Given the description of an element on the screen output the (x, y) to click on. 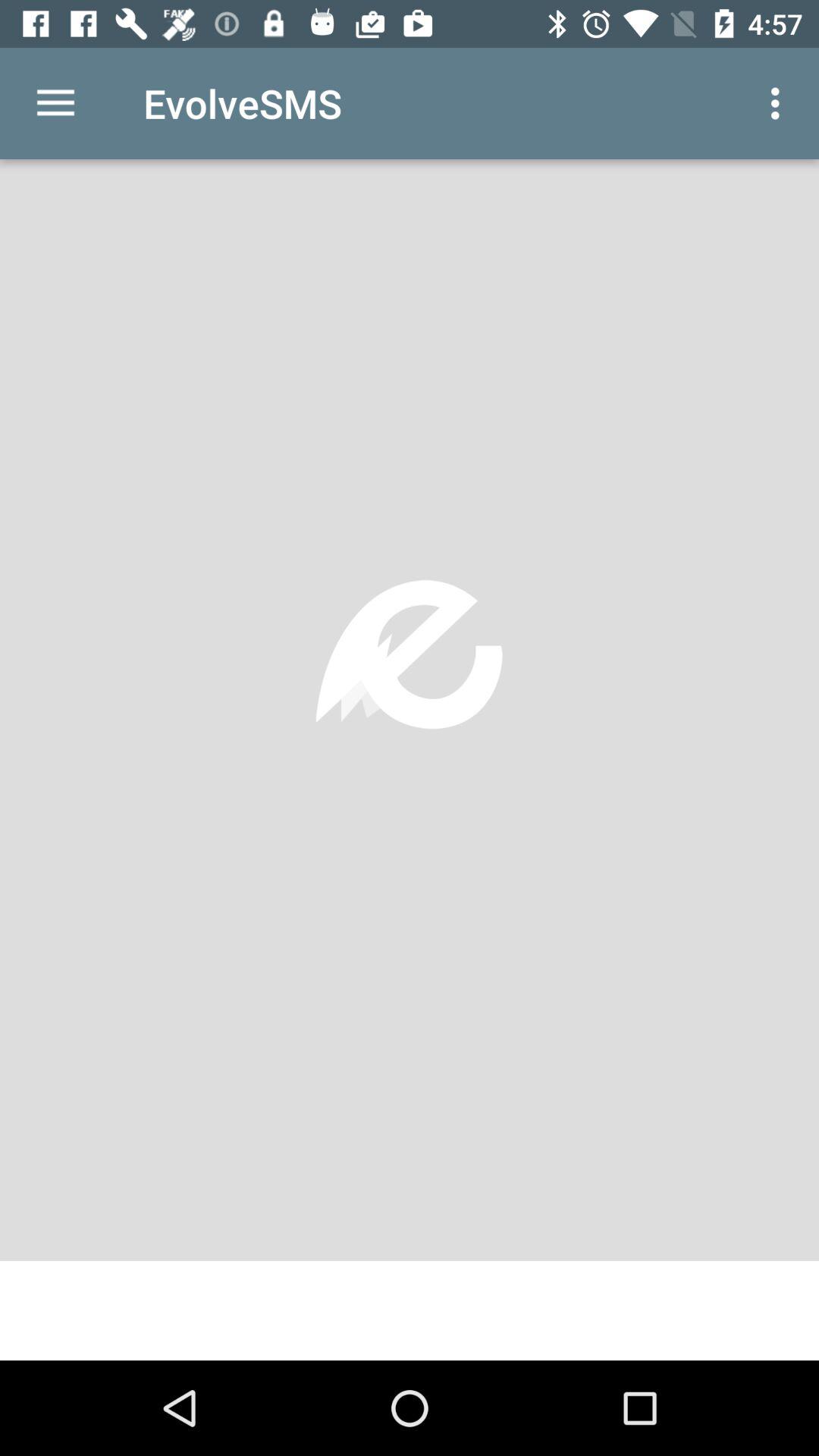
press the icon next to the evolvesms (55, 103)
